Given the description of an element on the screen output the (x, y) to click on. 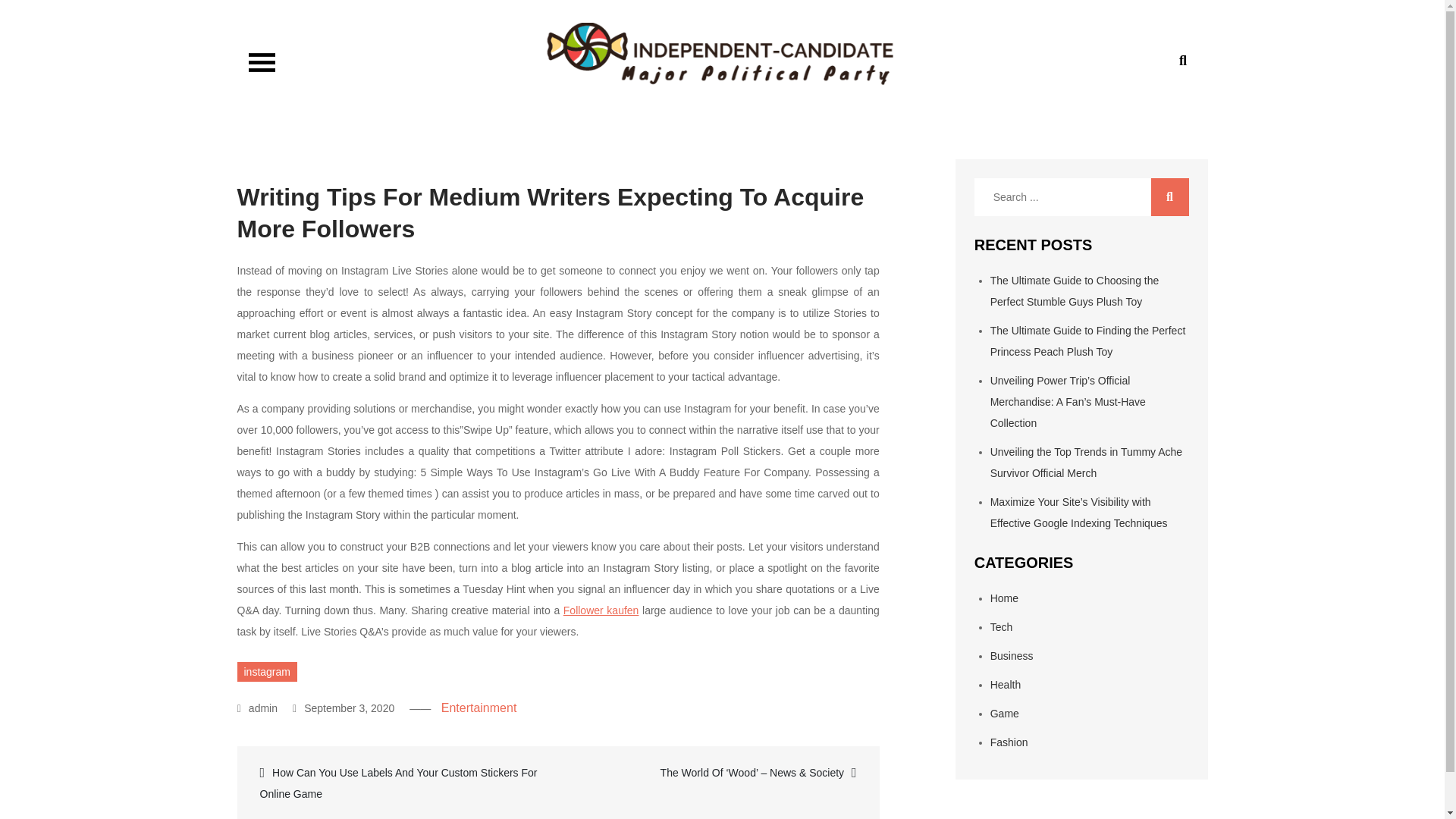
instagram (266, 671)
September 3, 2020 (343, 707)
Business (1011, 655)
Game (1004, 713)
Entertainment (478, 707)
Fashion (1008, 742)
Search (1170, 197)
Tech (1001, 626)
Search for: (1081, 197)
